Given the description of an element on the screen output the (x, y) to click on. 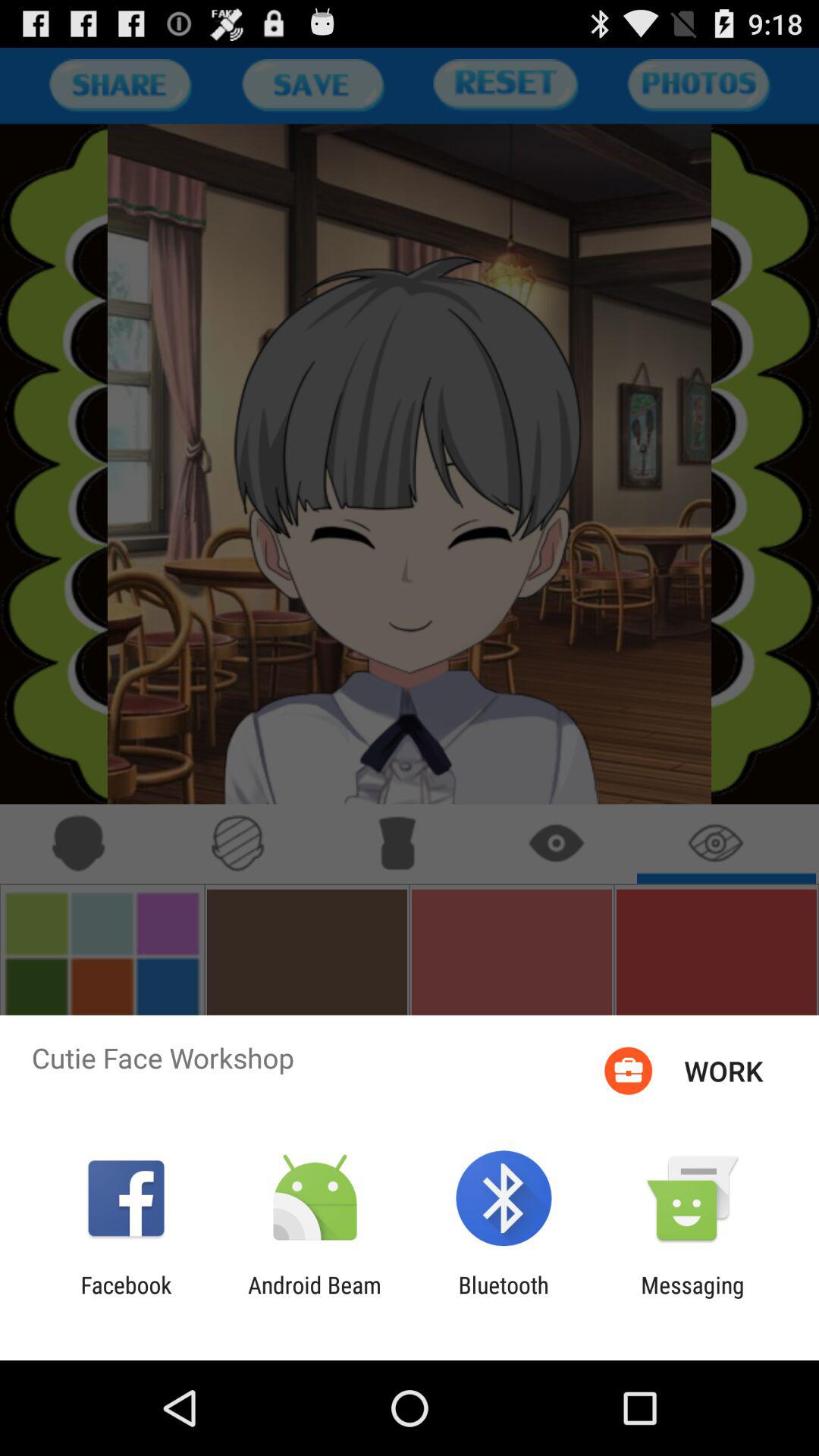
turn on the icon next to the bluetooth icon (692, 1298)
